Given the description of an element on the screen output the (x, y) to click on. 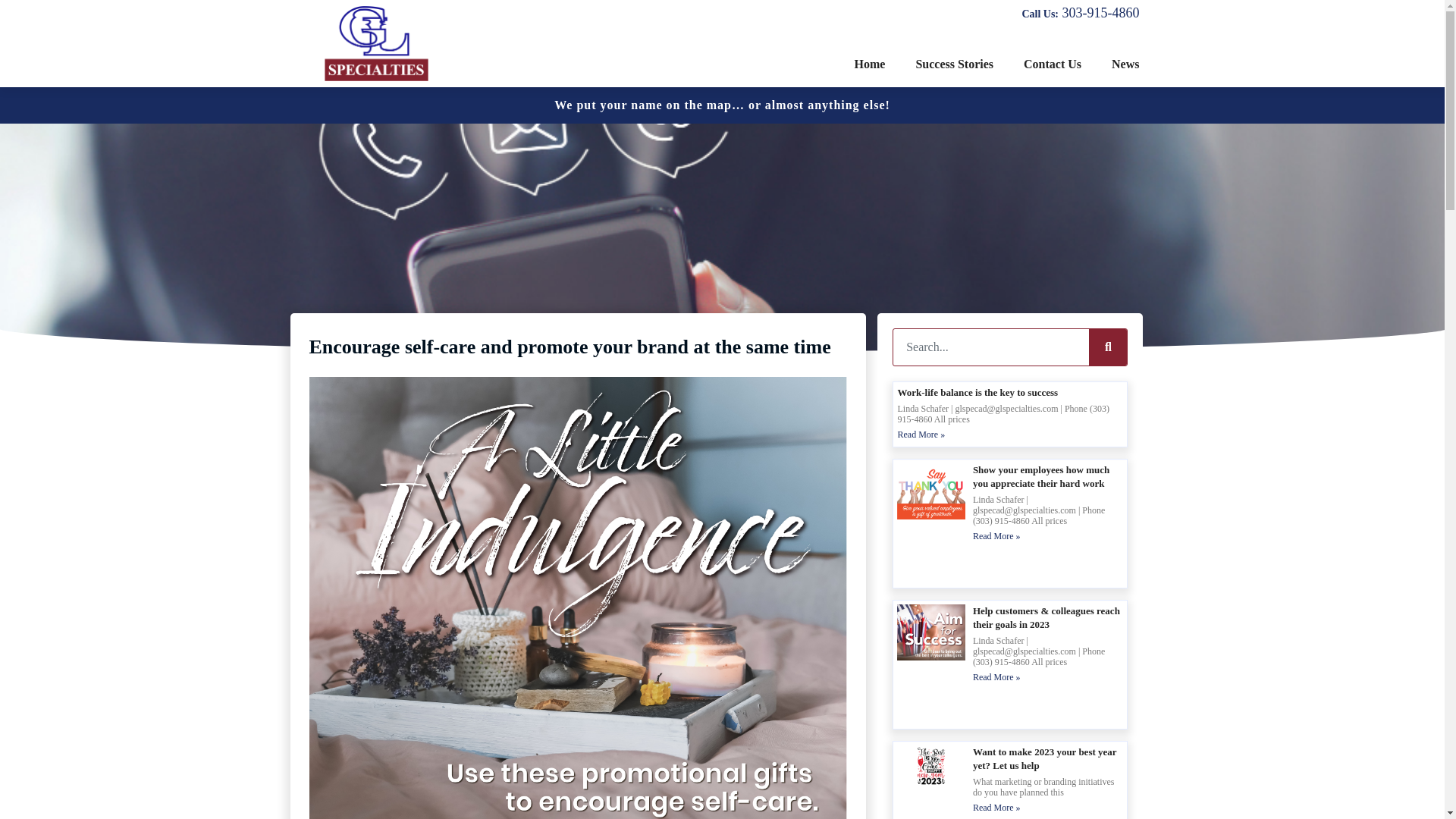
Success Stories (954, 64)
News (1125, 64)
Work-life balance is the key to success (977, 392)
Home (870, 64)
Contact Us (1052, 64)
Show your employees how much you appreciate their hard work (1040, 476)
